Given the description of an element on the screen output the (x, y) to click on. 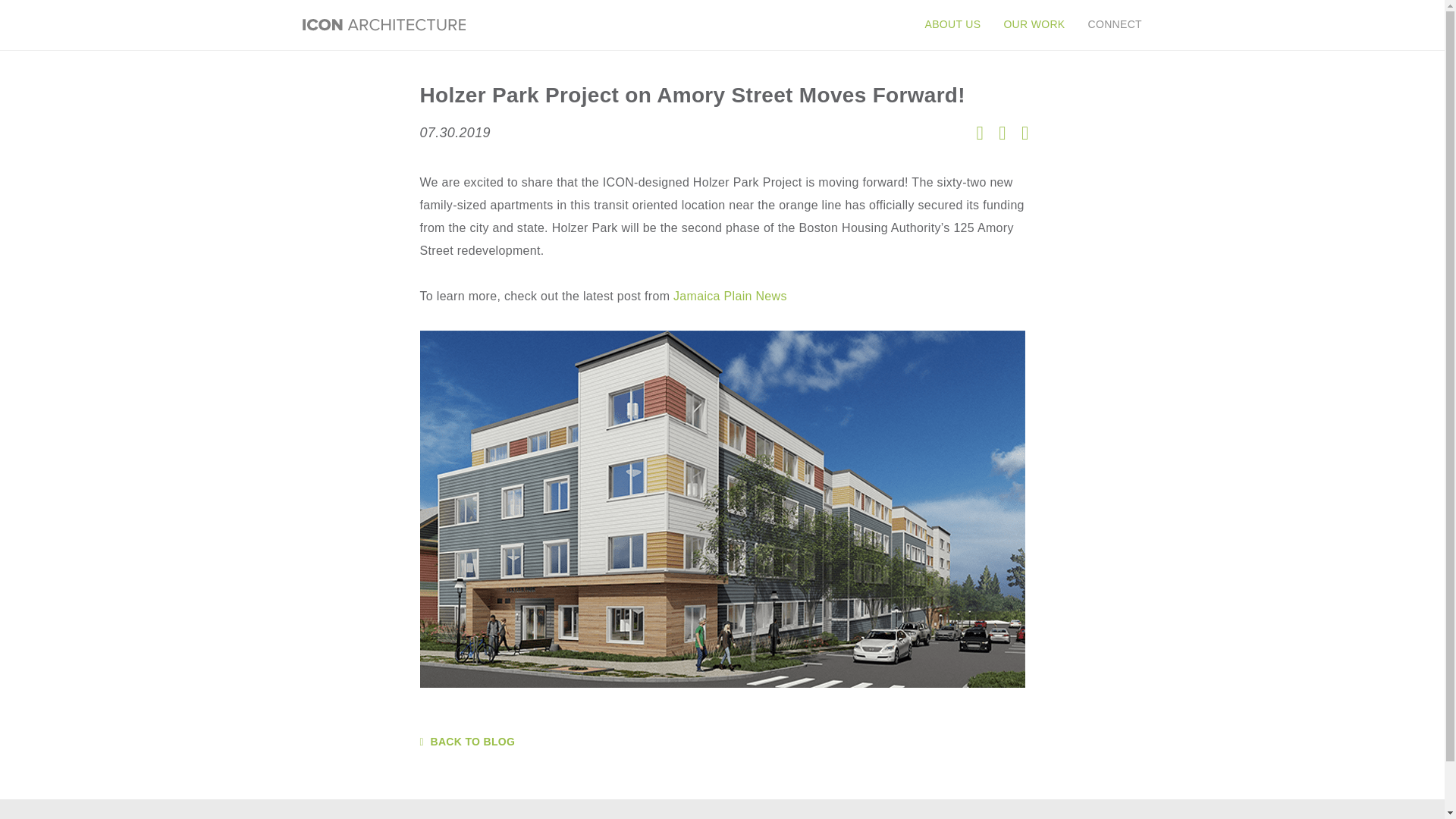
Jamaica Plain News (729, 295)
OUR WORK (1033, 24)
ABOUT US (953, 24)
BACK TO BLOG (722, 741)
CONNECT (1109, 24)
ICON Architecture (383, 24)
